Given the description of an element on the screen output the (x, y) to click on. 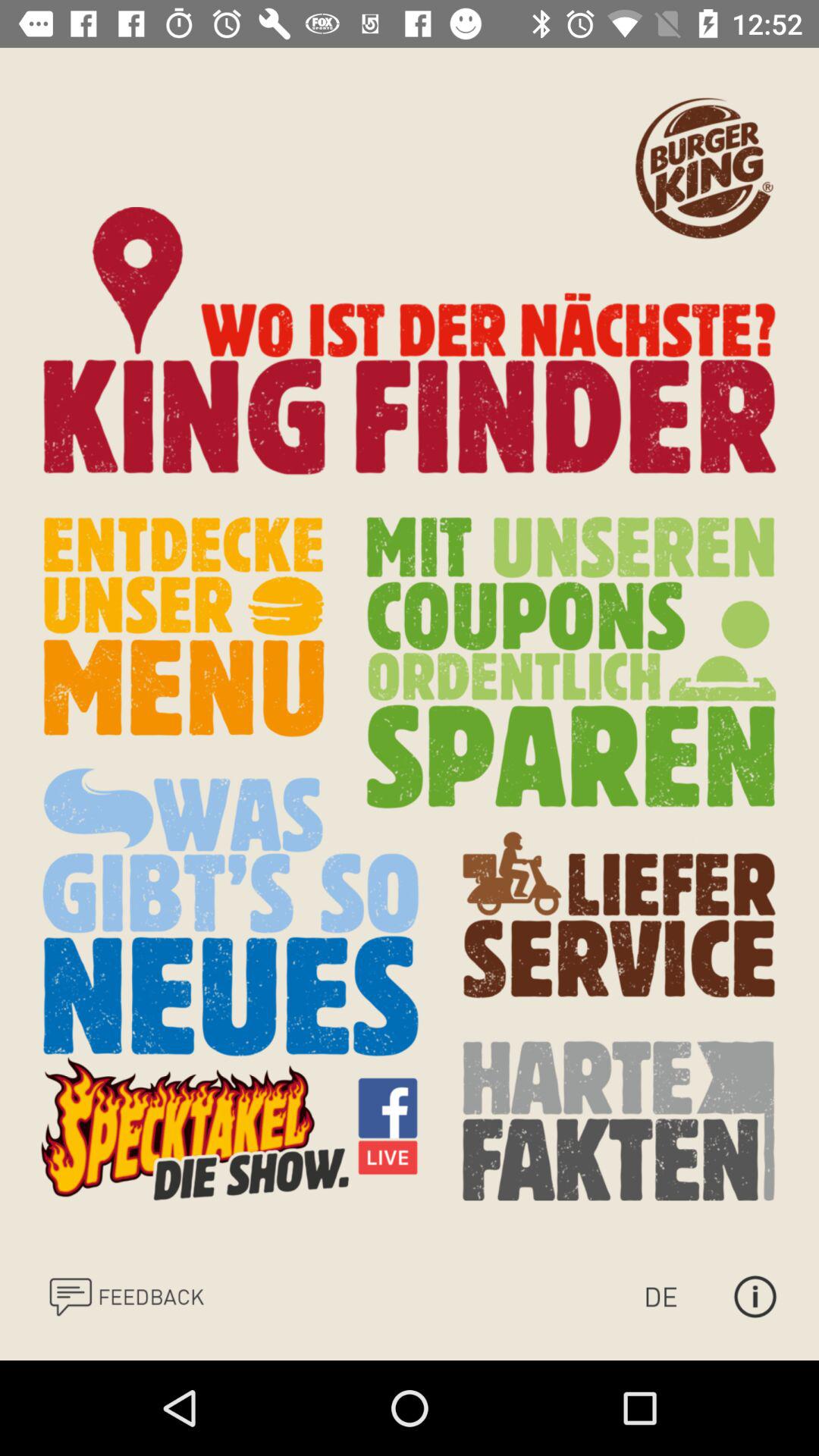
more information (755, 1296)
